Given the description of an element on the screen output the (x, y) to click on. 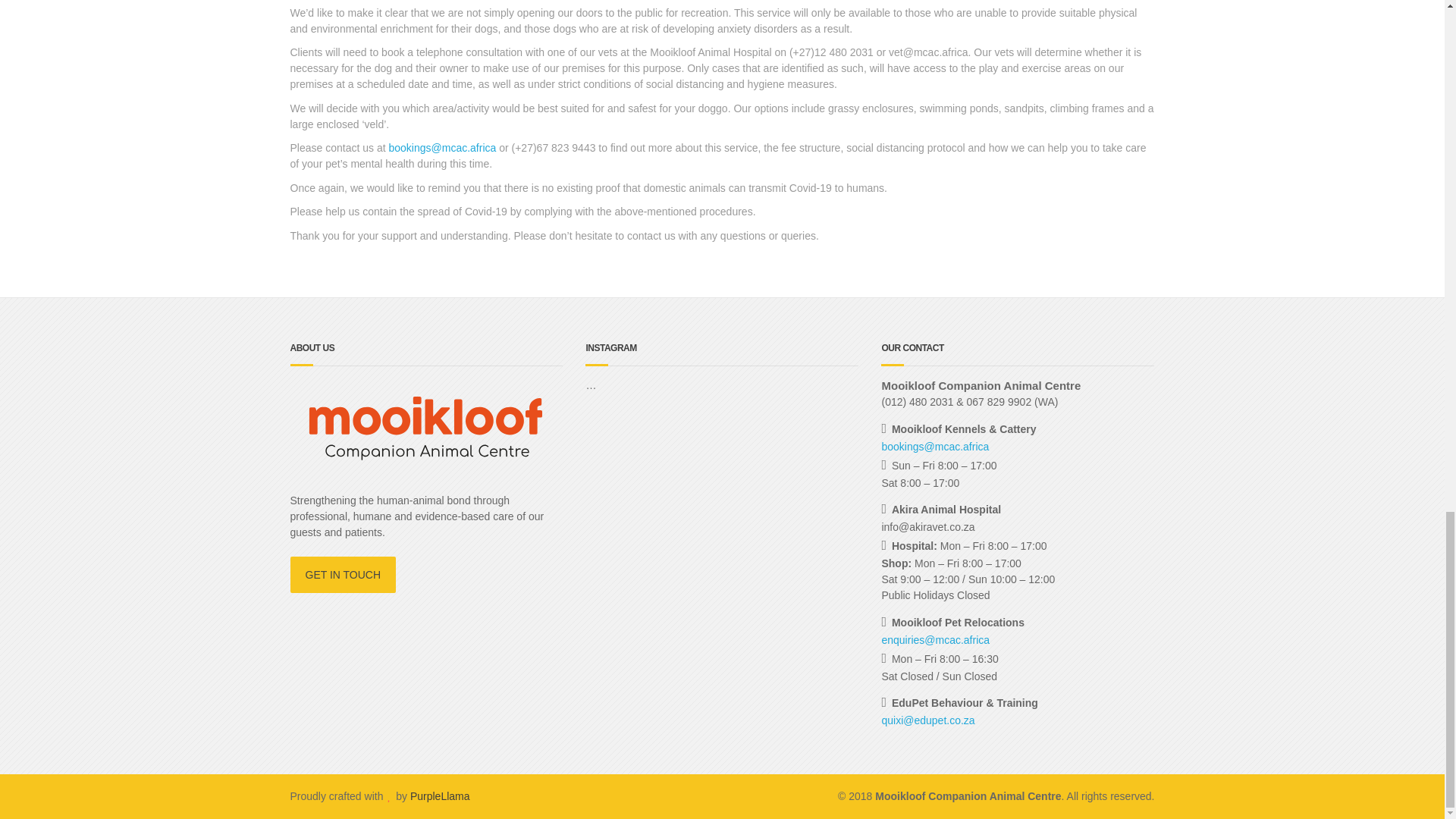
PurpleLlama (440, 796)
GET IN TOUCH (342, 574)
